Given the description of an element on the screen output the (x, y) to click on. 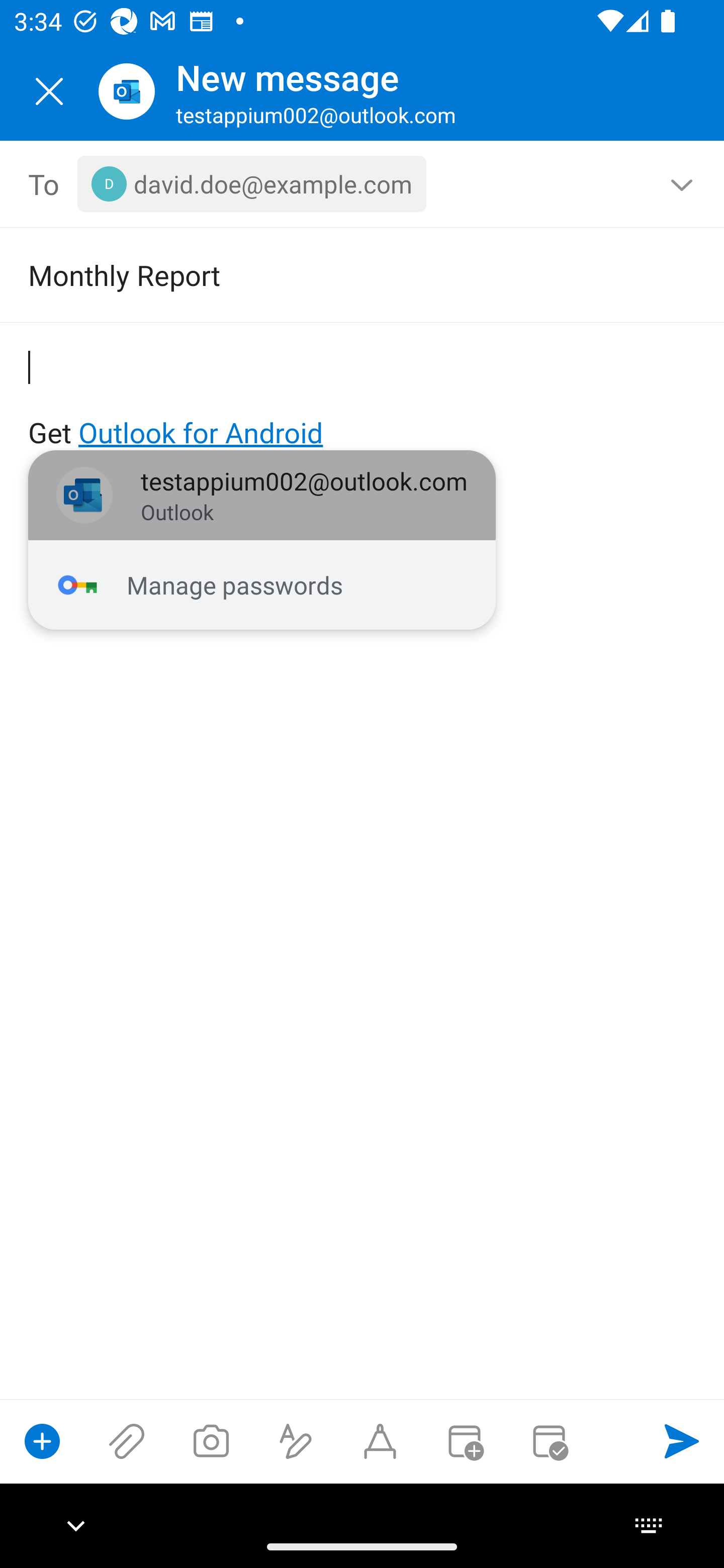
Outlook testappium002@outlook.com Outlook (261, 495)
Google Password Manager Manage passwords (261, 585)
